Given the description of an element on the screen output the (x, y) to click on. 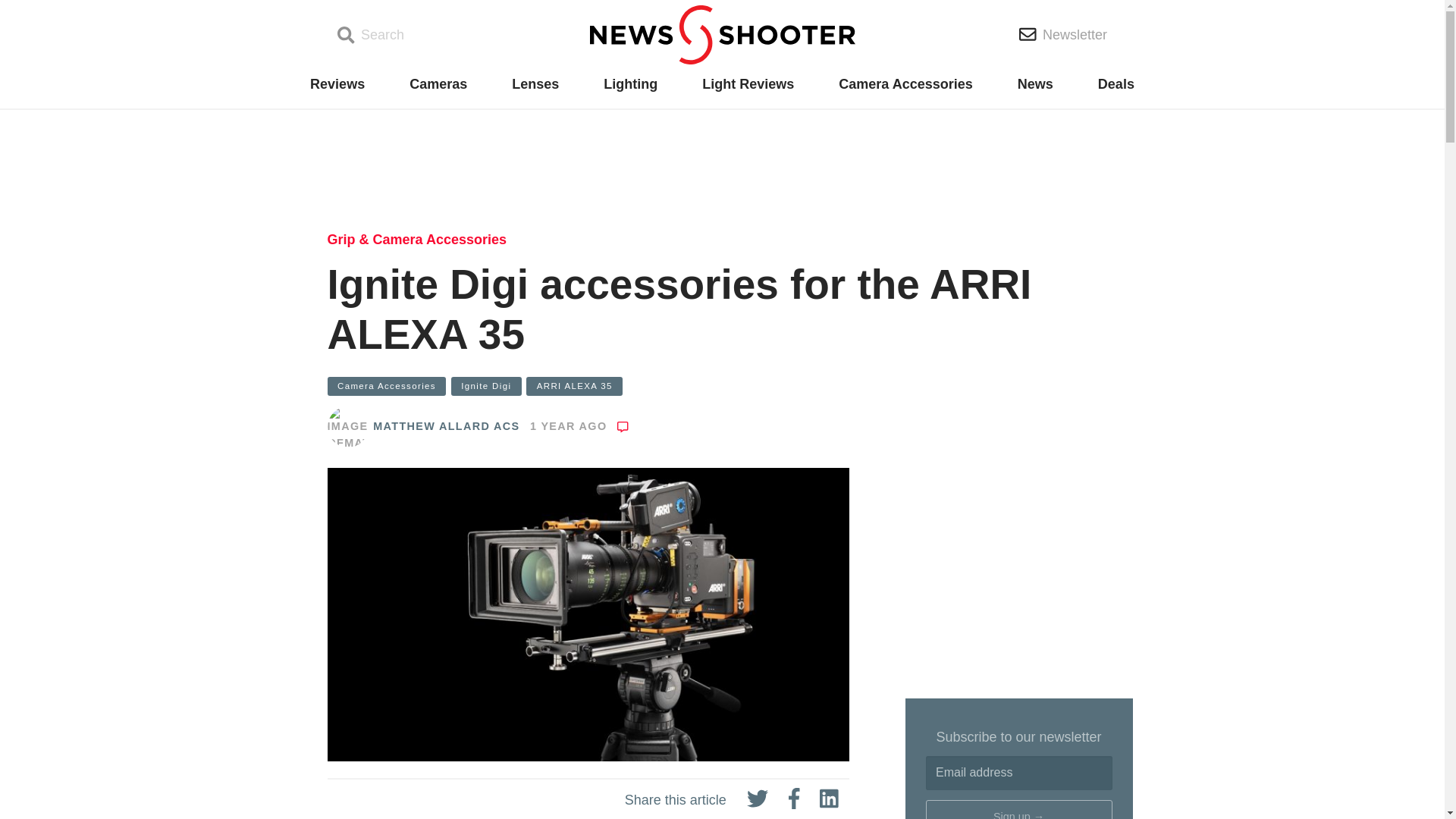
Light Reviews (747, 84)
News (1034, 84)
MATTHEW ALLARD ACS (445, 426)
Deals (1115, 84)
Reviews (337, 84)
3rd party ad content (721, 164)
Camera Accessories (905, 84)
Newsletter (1062, 34)
Lighting (631, 84)
Lenses (535, 84)
Camera Accessories (386, 385)
ARRI ALEXA 35 (574, 385)
Cameras (438, 84)
Ignite Digi (486, 385)
3rd party ad content (1018, 583)
